Given the description of an element on the screen output the (x, y) to click on. 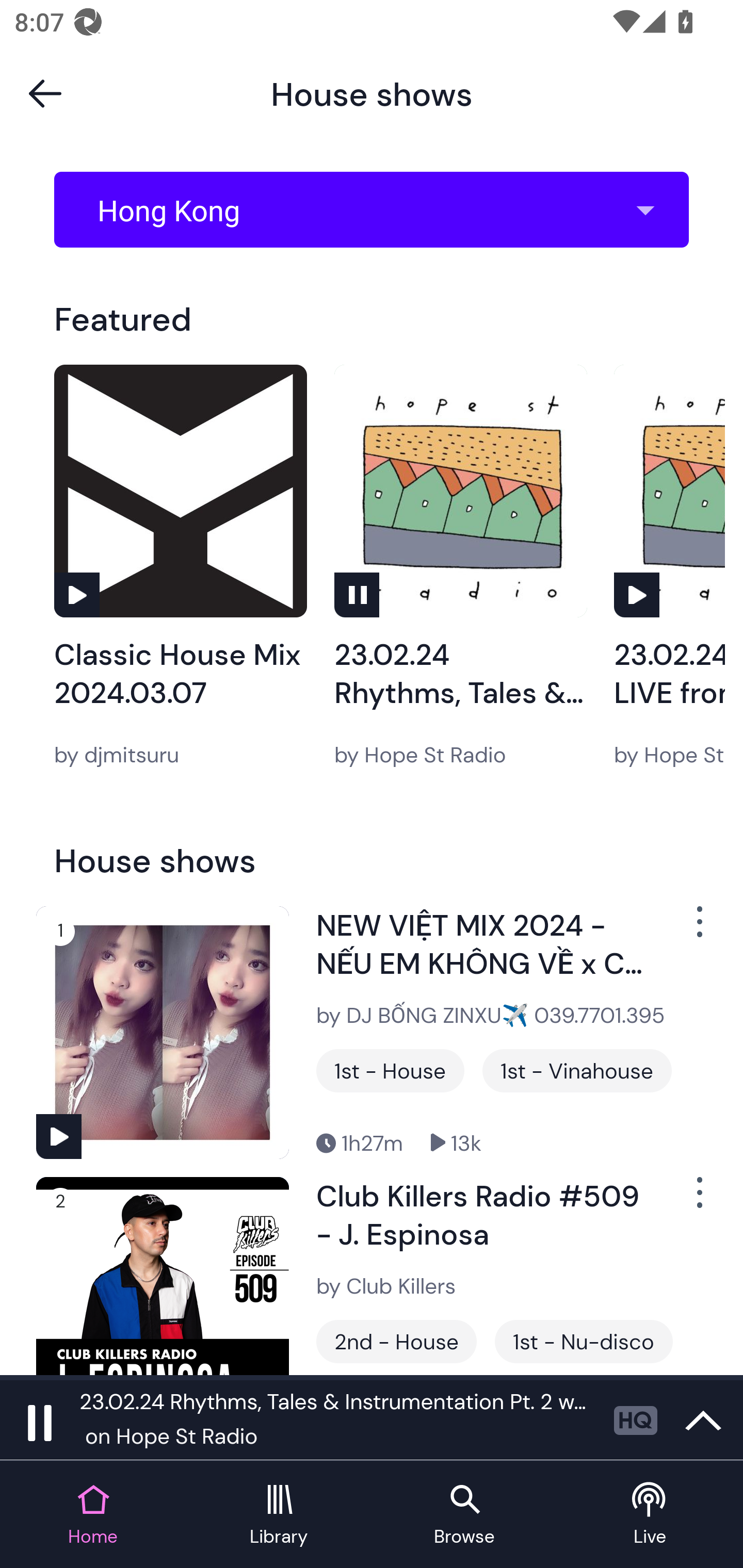
Hong Kong (378, 209)
Show Options Menu Button (697, 929)
1st - House (390, 1070)
1st - Vinahouse (576, 1070)
Show Options Menu Button (697, 1200)
2nd - House (396, 1341)
1st - Nu-disco (583, 1341)
Home tab Home (92, 1515)
Library tab Library (278, 1515)
Browse tab Browse (464, 1515)
Live tab Live (650, 1515)
